Given the description of an element on the screen output the (x, y) to click on. 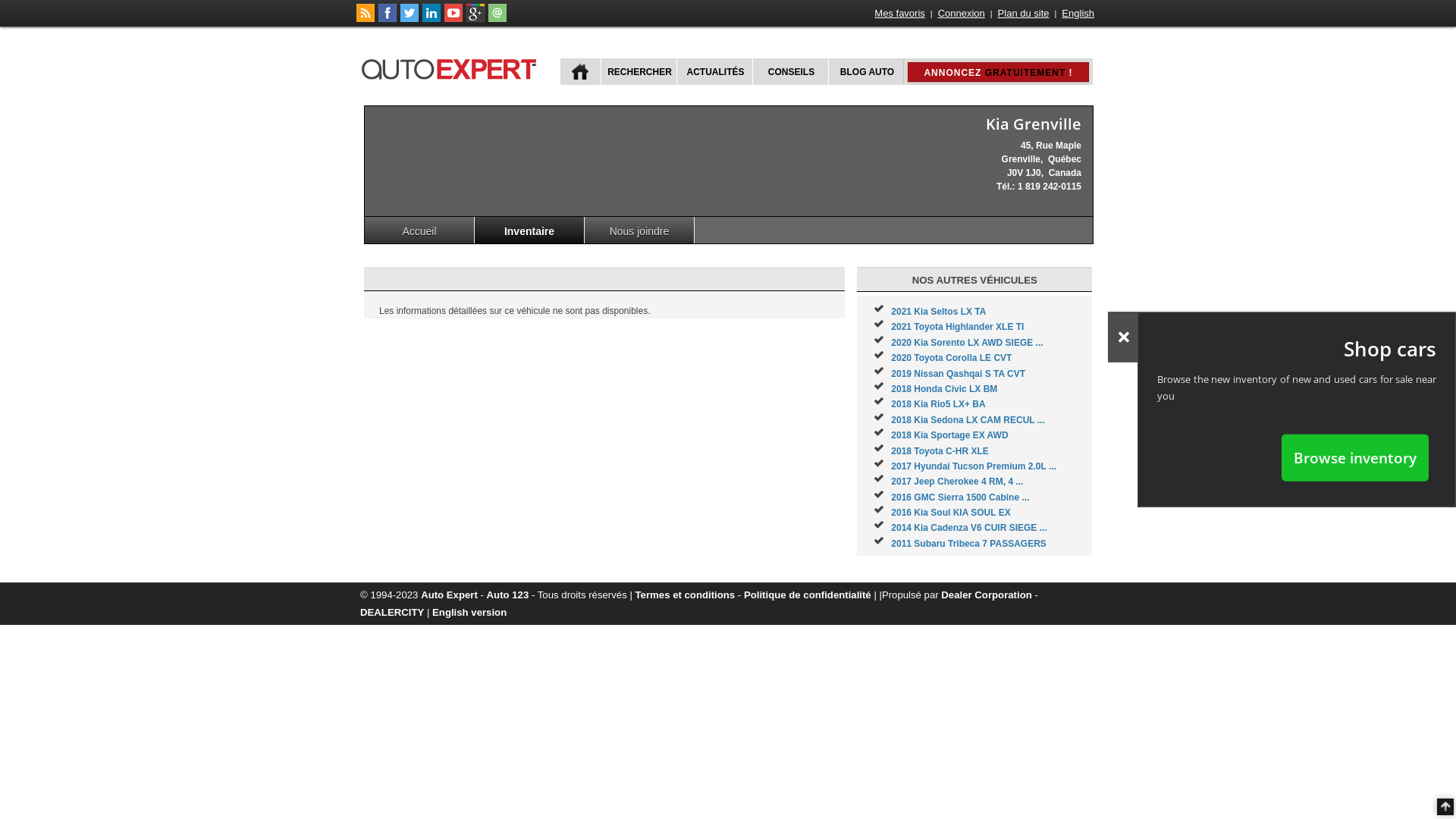
Suivez autoExpert.ca sur Youtube Element type: hover (453, 18)
BLOG AUTO Element type: text (865, 71)
English version Element type: text (469, 612)
Termes et conditions Element type: text (685, 594)
2018 Toyota C-HR XLE Element type: text (939, 450)
Suivez autoExpert.ca sur Facebook Element type: hover (387, 18)
2018 Kia Rio5 LX+ BA Element type: text (938, 403)
RECHERCHER Element type: text (637, 71)
Inventaire Element type: text (529, 229)
2017 Jeep Cherokee 4 RM, 4 ... Element type: text (956, 481)
2016 GMC Sierra 1500 Cabine ... Element type: text (960, 497)
Joindre autoExpert.ca Element type: hover (497, 18)
Suivez autoExpert.ca sur Twitter Element type: hover (409, 18)
Auto 123 Element type: text (507, 594)
2018 Kia Sedona LX CAM RECUL ... Element type: text (967, 419)
2014 Kia Cadenza V6 CUIR SIEGE ... Element type: text (968, 527)
Accueil Element type: text (419, 229)
Connexion Element type: text (961, 13)
Suivez Publications Le Guide Inc. sur LinkedIn Element type: hover (431, 18)
ANNONCEZ GRATUITEMENT ! Element type: text (997, 71)
Mes favoris Element type: text (898, 13)
2021 Toyota Highlander XLE TI Element type: text (957, 326)
2019 Nissan Qashqai S TA CVT Element type: text (958, 373)
ACCUEIL Element type: text (580, 71)
Suivez autoExpert.ca sur Google Plus Element type: hover (475, 18)
autoExpert.ca Element type: text (451, 66)
2020 Toyota Corolla LE CVT Element type: text (951, 357)
2020 Kia Sorento LX AWD SIEGE ... Element type: text (966, 342)
Browse inventory Element type: text (1354, 457)
2016 Kia Soul KIA SOUL EX Element type: text (950, 512)
Nous joindre Element type: text (639, 229)
Plan du site Element type: text (1023, 13)
2018 Kia Sportage EX AWD Element type: text (949, 434)
2017 Hyundai Tucson Premium 2.0L ... Element type: text (973, 466)
Dealer Corporation Element type: text (986, 594)
2018 Honda Civic LX BM Element type: text (944, 388)
2021 Kia Seltos LX TA Element type: text (938, 311)
CONSEILS Element type: text (789, 71)
DEALERCITY Element type: text (391, 612)
2011 Subaru Tribeca 7 PASSAGERS Element type: text (968, 543)
English Element type: text (1077, 13)
Auto Expert Element type: text (448, 594)
